Given the description of an element on the screen output the (x, y) to click on. 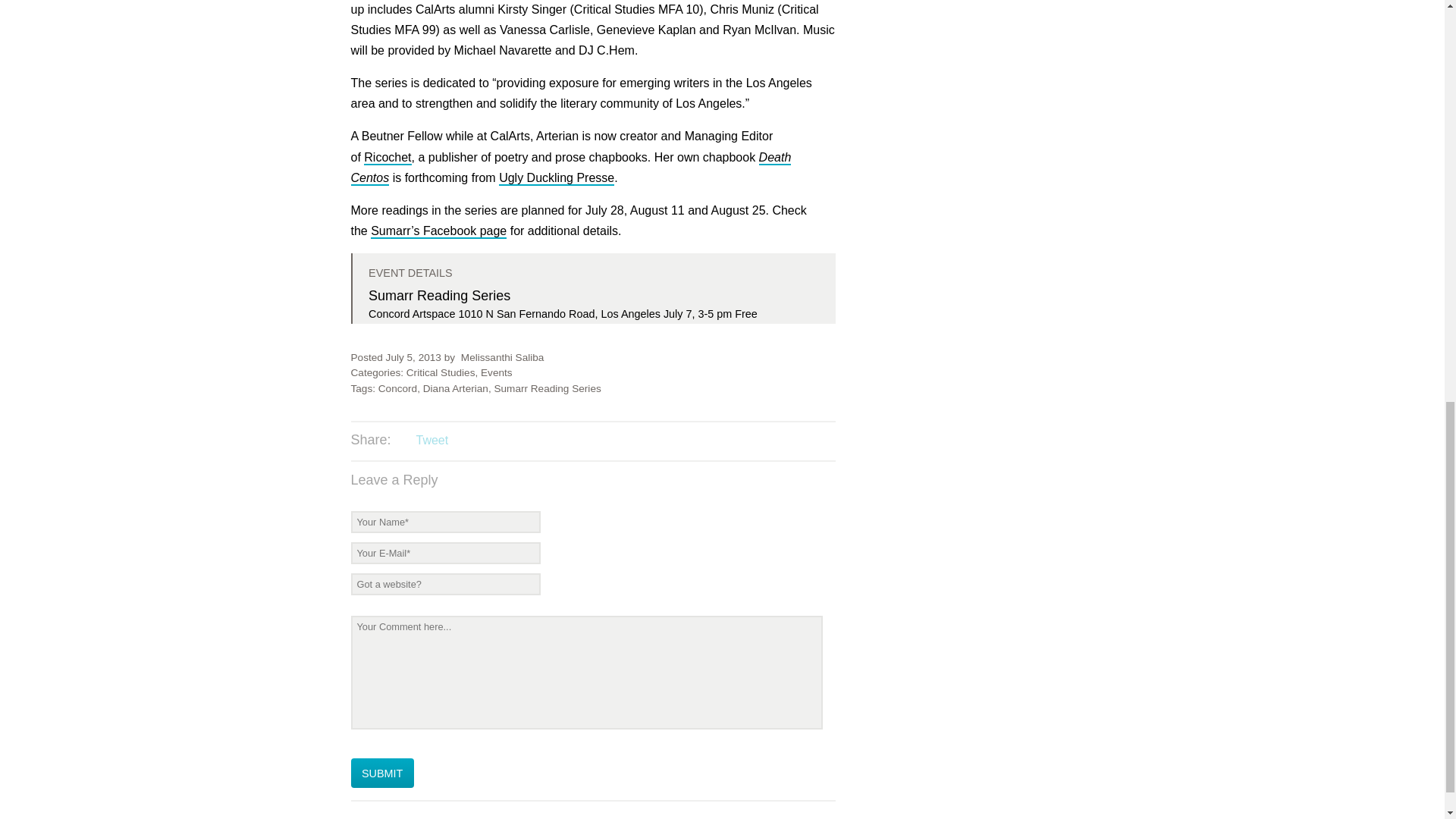
Diana Arterian (455, 388)
Events (496, 372)
Share on Tumblr (493, 441)
Death Centos (570, 167)
Ugly Duckling Presse (556, 178)
Ricochet (387, 157)
Death Centos (570, 167)
Submit (381, 772)
Share on Tumblr (493, 441)
Tweet (431, 440)
